Given the description of an element on the screen output the (x, y) to click on. 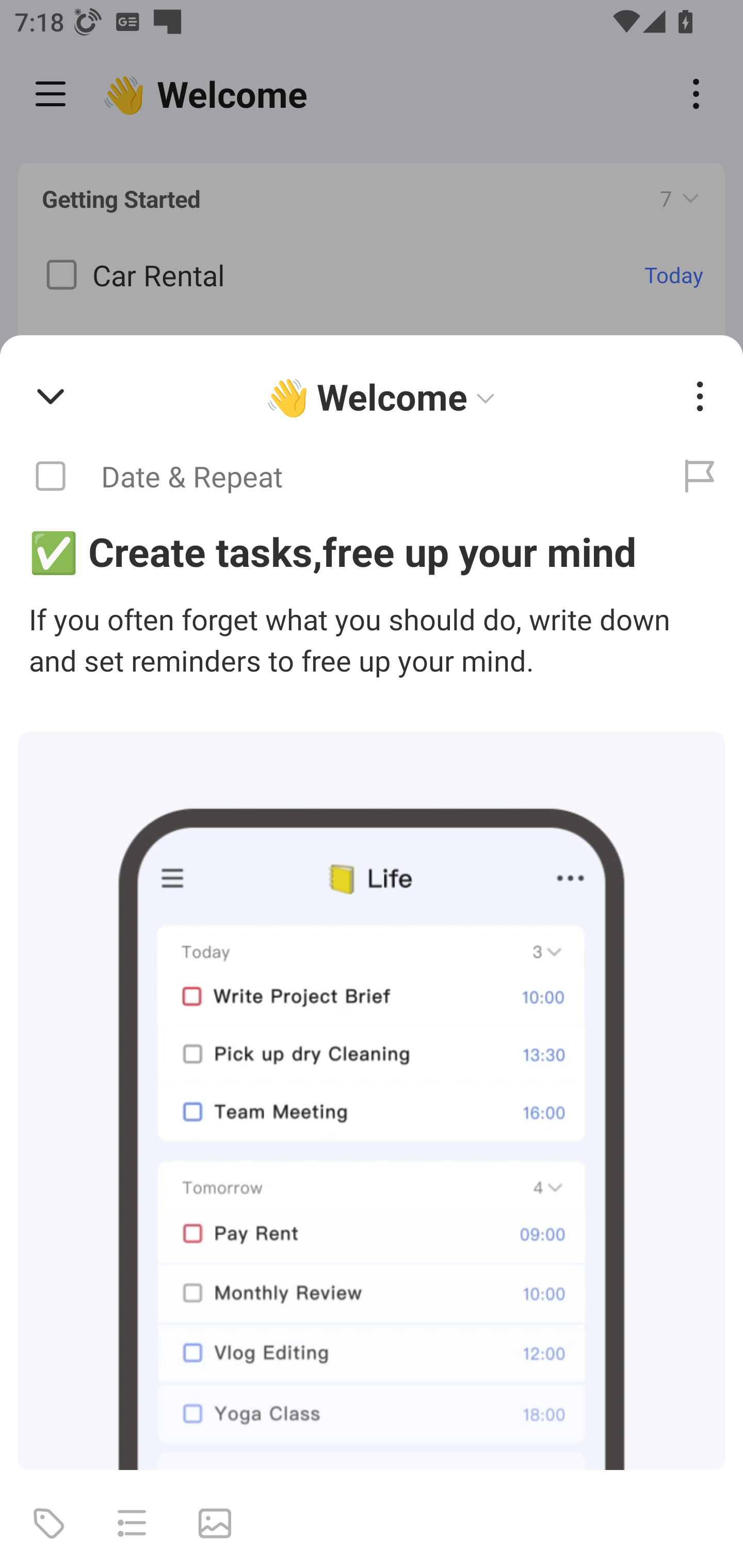
👋 Welcome (384, 396)
Date & Repeat (328, 476)
✅ Create tasks,free up your mind (371, 551)
